Given the description of an element on the screen output the (x, y) to click on. 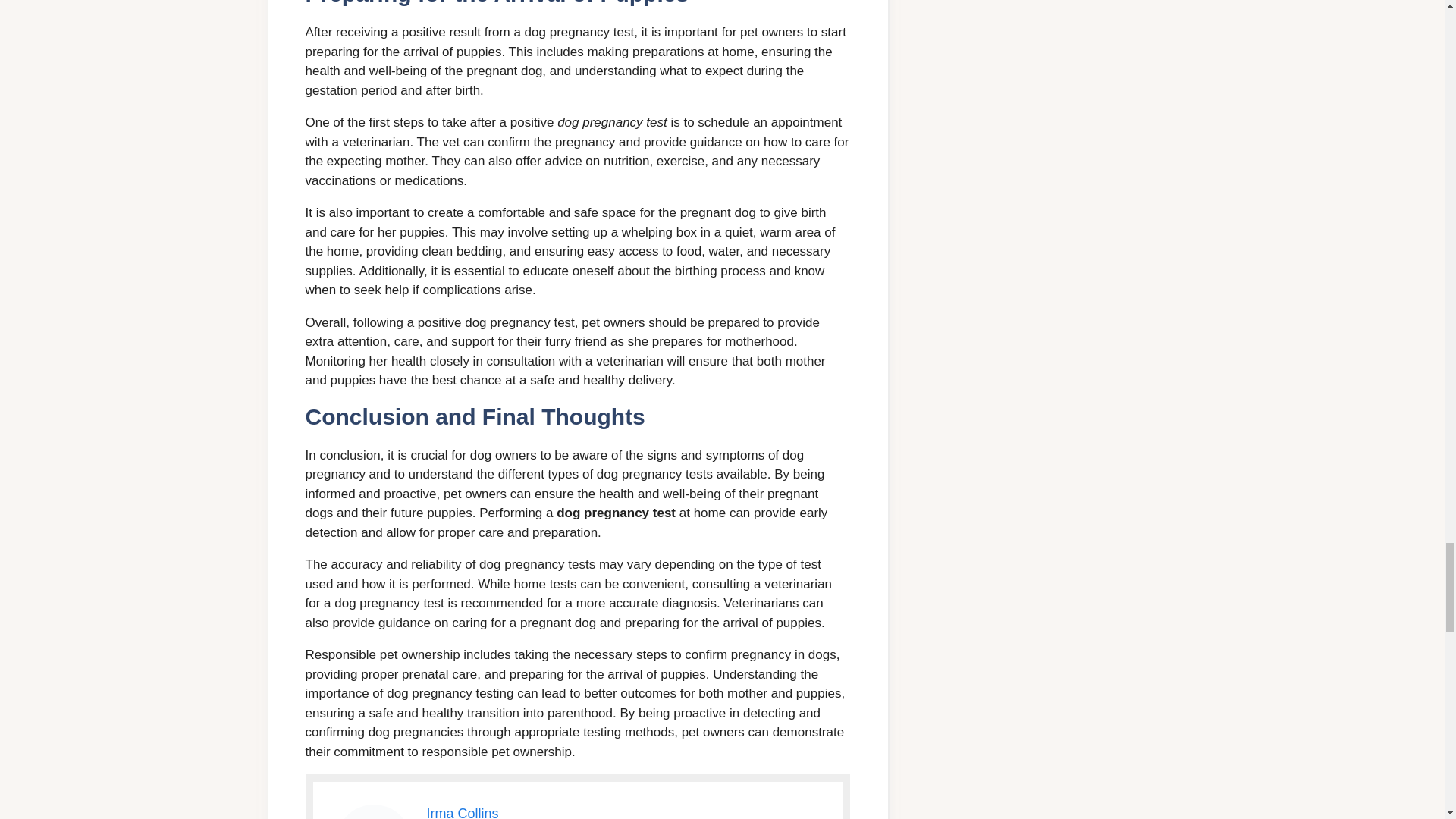
Irma Collins (461, 812)
